Given the description of an element on the screen output the (x, y) to click on. 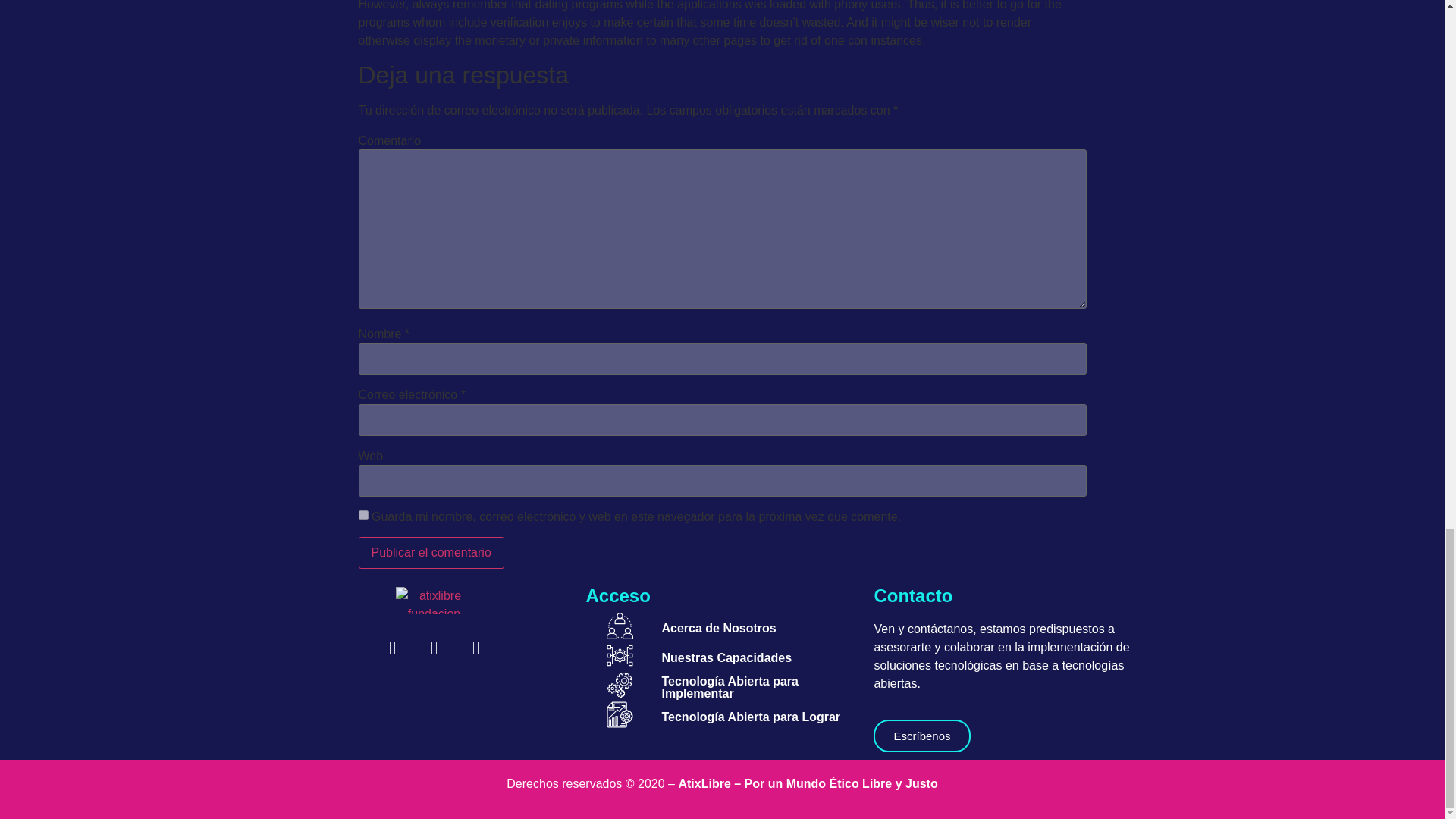
Publicar el comentario (430, 552)
yes (363, 515)
Nuestras Capacidades (726, 657)
Acerca de Nosotros (718, 627)
Publicar el comentario (430, 552)
